Given the description of an element on the screen output the (x, y) to click on. 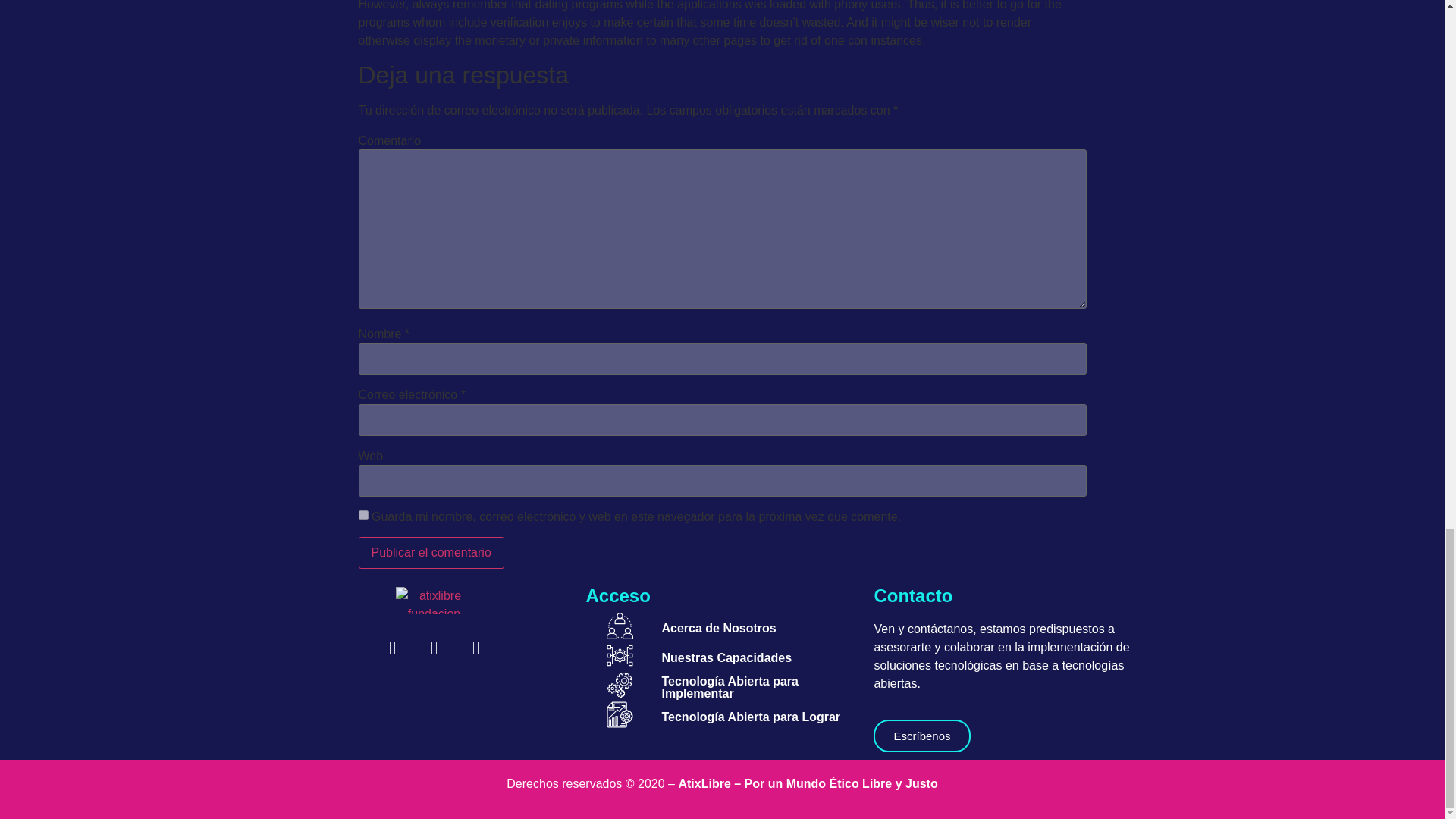
Publicar el comentario (430, 552)
yes (363, 515)
Nuestras Capacidades (726, 657)
Acerca de Nosotros (718, 627)
Publicar el comentario (430, 552)
